Given the description of an element on the screen output the (x, y) to click on. 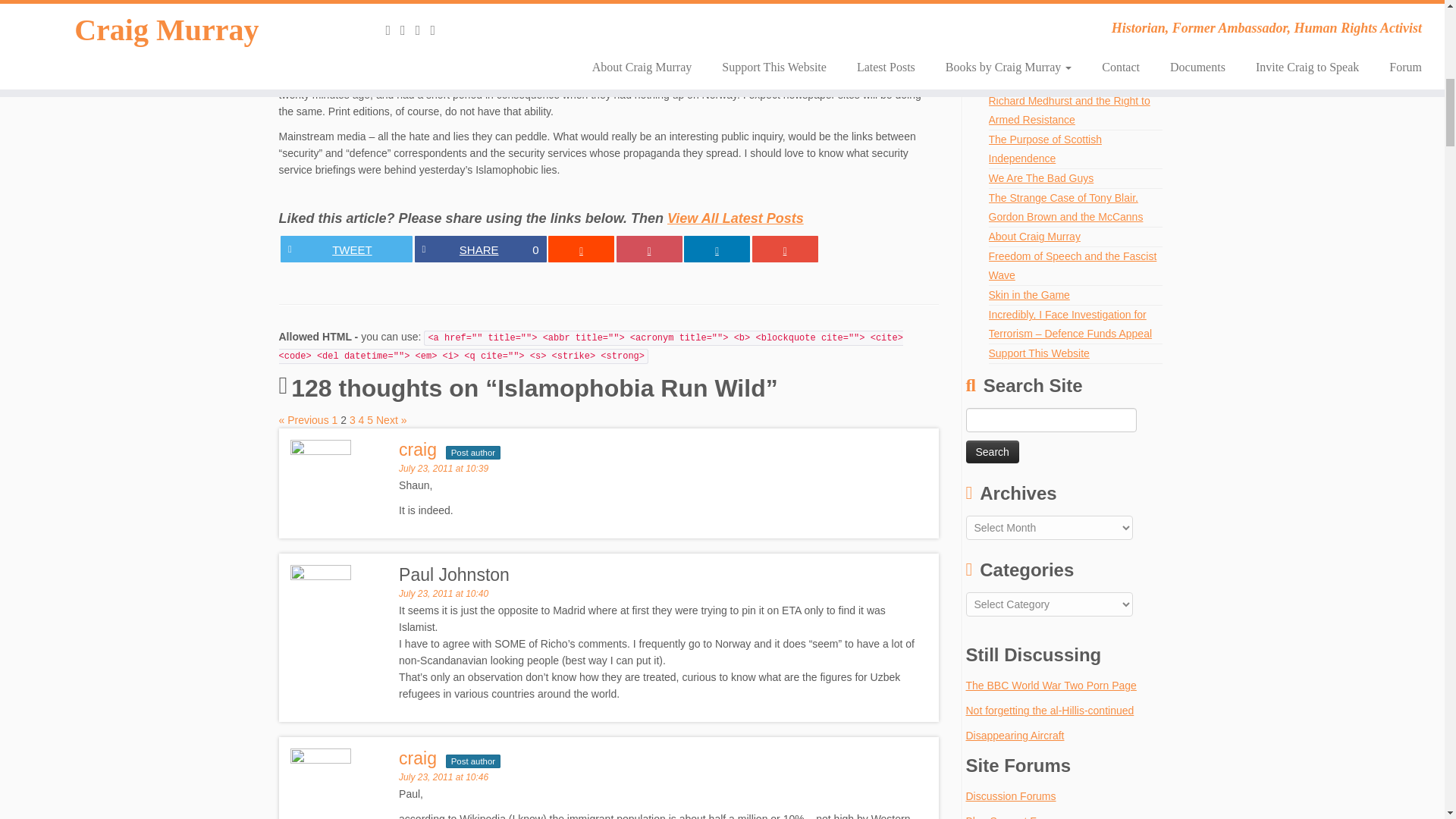
Submit to Reddit (581, 248)
Share on Facebook (479, 248)
July 23, 2011 at 10:39 (442, 468)
View All Latest Posts (479, 248)
TWEET (734, 218)
Tweet on Twitter (346, 248)
craig (346, 248)
Search (417, 449)
Save to read later on Pocket (992, 451)
